Given the description of an element on the screen output the (x, y) to click on. 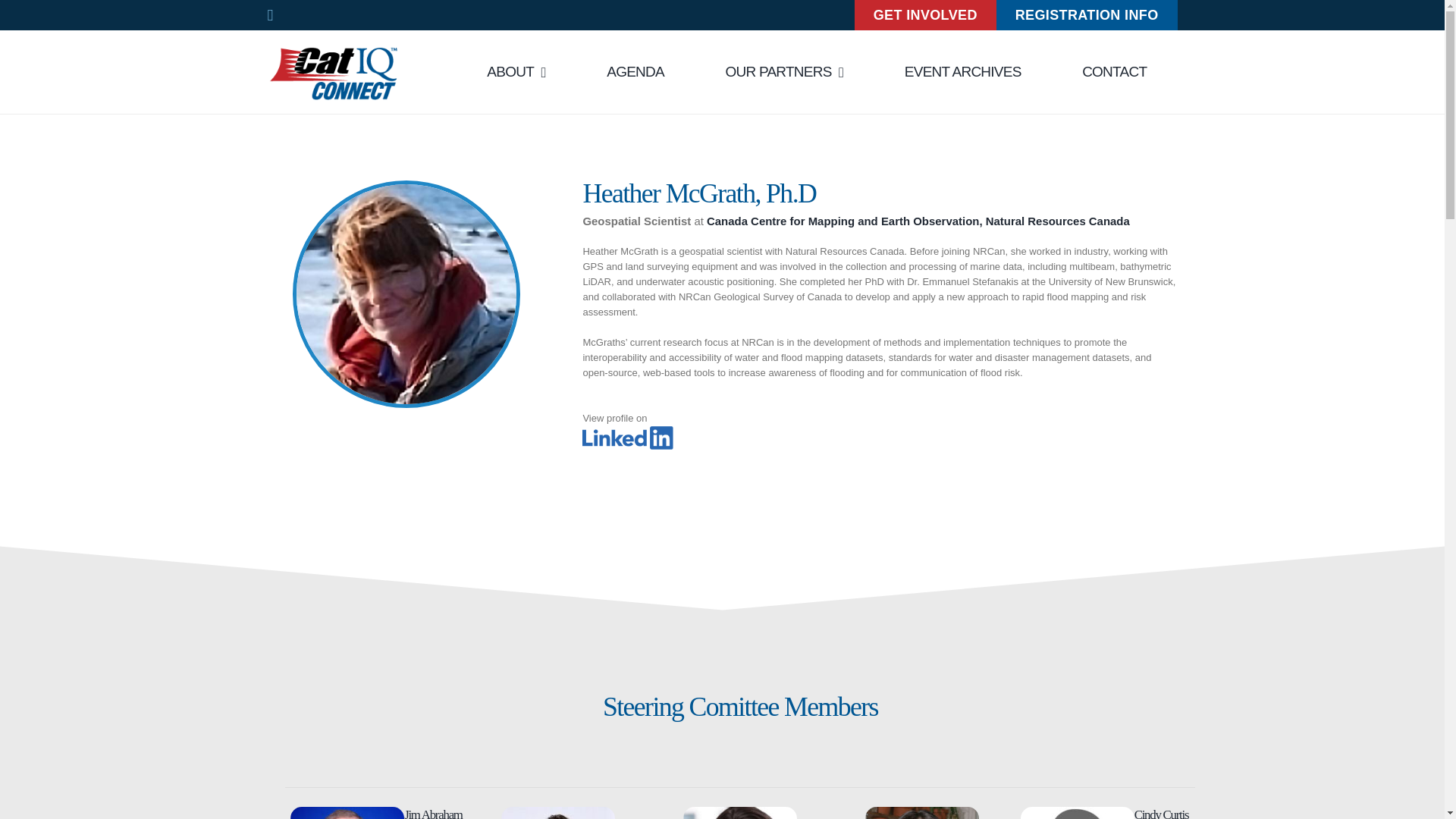
REGISTRATION INFO (1086, 15)
OUR PARTNERS (783, 71)
ABOUT (515, 71)
CONTACT (1114, 71)
Registration for CatIQ Connect! (1086, 15)
About CatIQ Connect (515, 71)
EVENT ARCHIVES (963, 71)
CatIQ Connect Event Agenda (635, 71)
Event Archives (963, 71)
AGENDA (635, 71)
Contact CatIQ (1114, 71)
GET INVOLVED (924, 15)
Our Partners (783, 71)
